Given the description of an element on the screen output the (x, y) to click on. 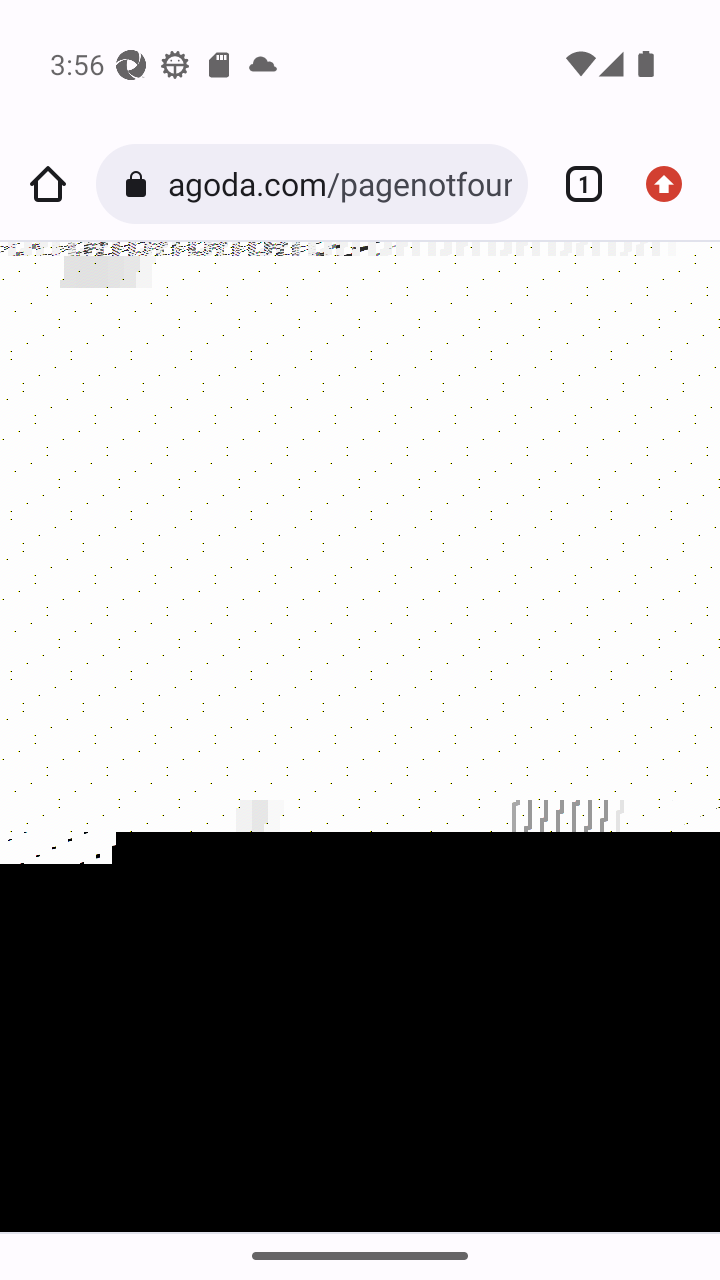
Home (47, 184)
Connection is secure (139, 184)
Switch or close tabs (575, 184)
Update available. More options (672, 184)
agoda.com/pagenotfound.html (339, 184)
